Given the description of an element on the screen output the (x, y) to click on. 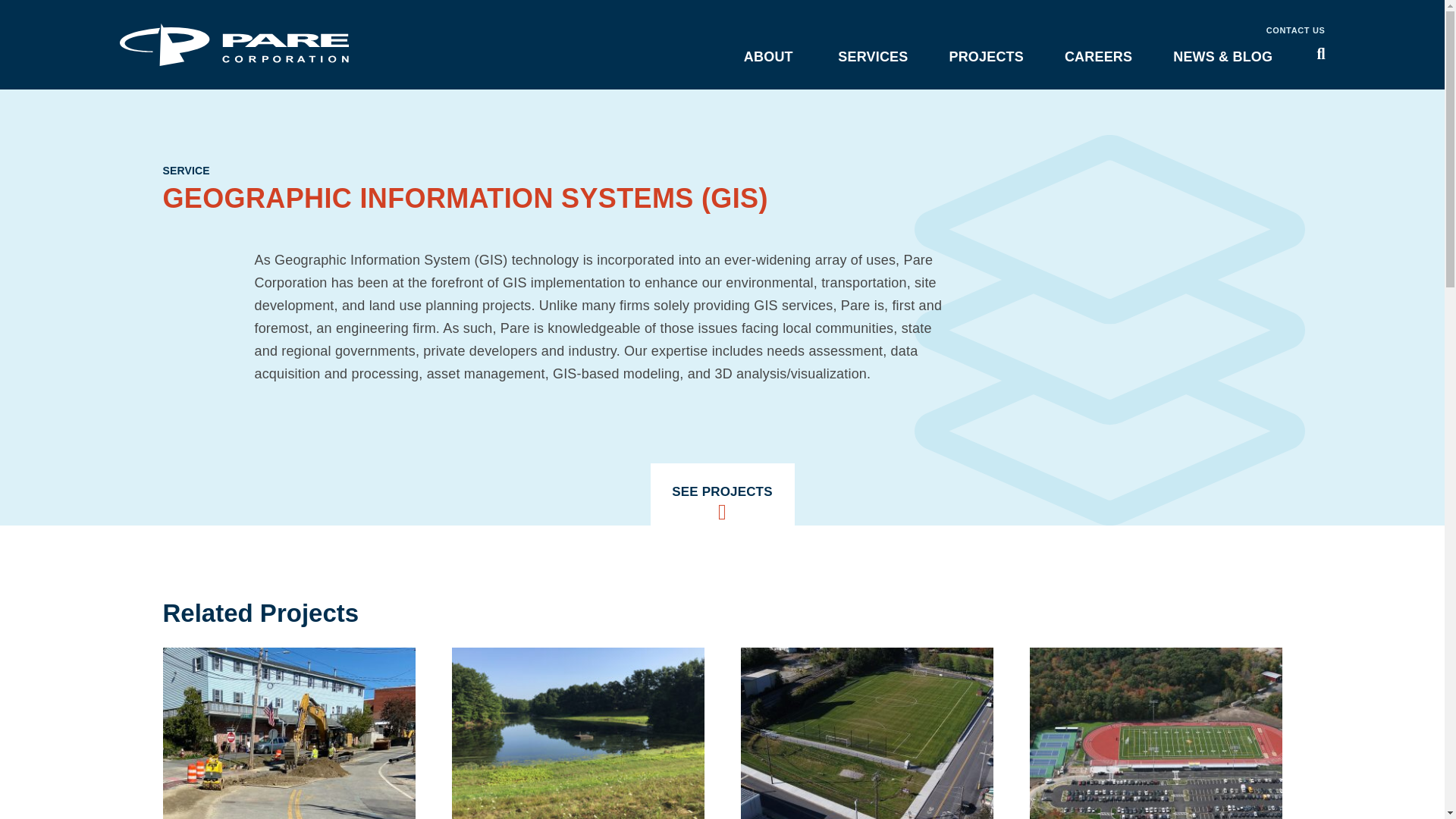
Skip to navigation (50, 1)
Skip to intro (34, 1)
ABOUT (767, 56)
CONTACT US (1295, 30)
SERVICES (872, 56)
SEE PROJECTS (722, 494)
